Given the description of an element on the screen output the (x, y) to click on. 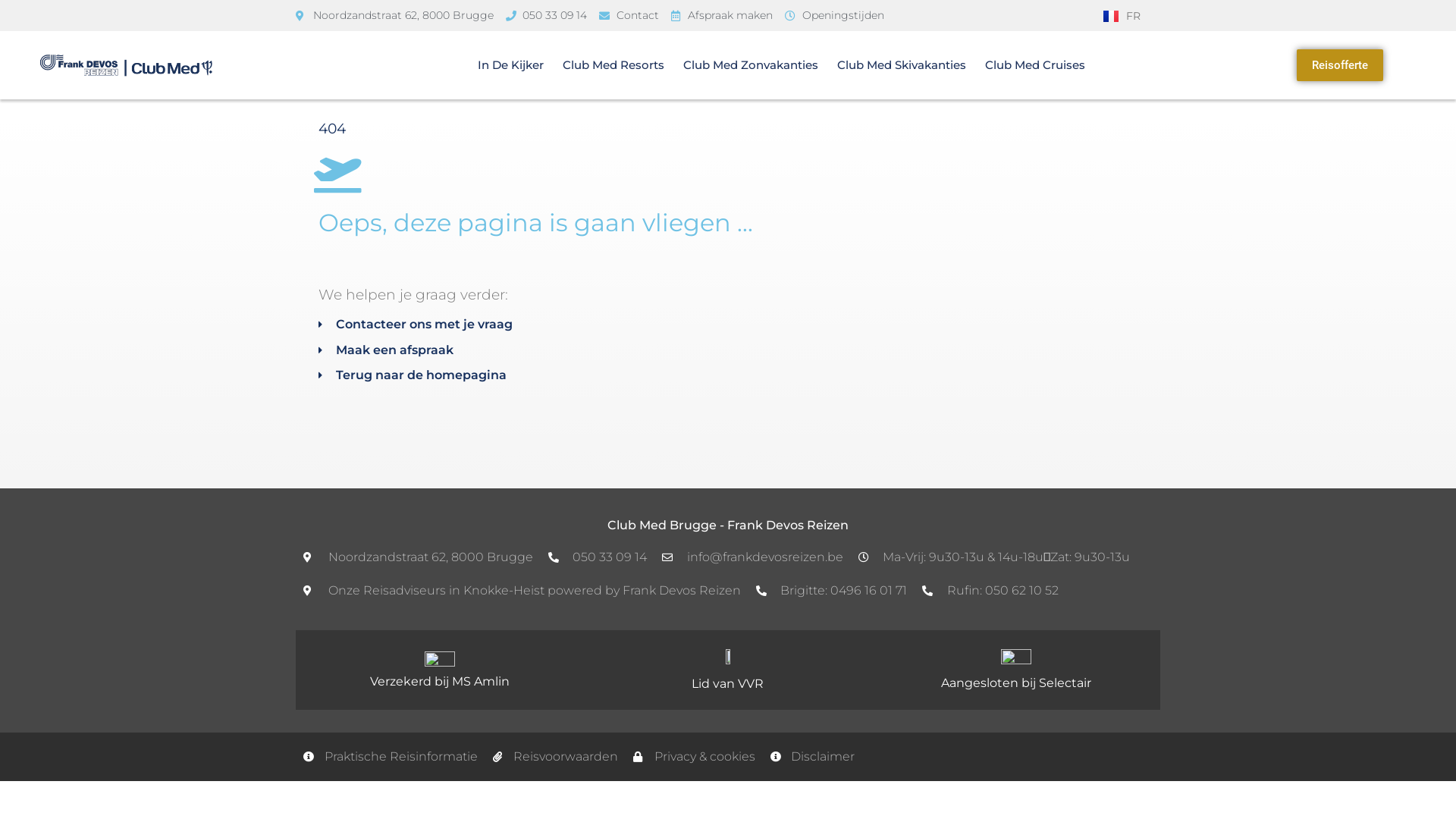
Reisvoorwaarden Element type: text (555, 756)
050 33 09 14 Element type: text (596, 557)
Afspraak maken Element type: text (721, 15)
Privacy & cookies Element type: text (694, 756)
Club Med Zonvakanties Element type: text (750, 65)
FR Element type: text (1121, 15)
Openingstijden Element type: text (834, 15)
Disclaimer Element type: text (812, 756)
Club Med Skivakanties Element type: text (901, 65)
Reisofferte Element type: text (1339, 65)
Noordzandstraat 62, 8000 Brugge Element type: text (394, 15)
Club Med Cruises Element type: text (1035, 65)
Club Med Resorts Element type: text (613, 65)
In De Kijker Element type: text (510, 65)
Terug naar de homepagina Element type: text (727, 375)
Maak een afspraak Element type: text (727, 350)
Brigitte: 0496 16 01 71 Element type: text (830, 590)
050 33 09 14 Element type: text (545, 15)
Contacteer ons met je vraag Element type: text (727, 324)
Rufin: 050 62 10 52 Element type: text (990, 590)
Contact Element type: text (628, 15)
info@frankdevosreizen.be Element type: text (752, 557)
Praktische Reisinformatie Element type: text (390, 756)
